Given the description of an element on the screen output the (x, y) to click on. 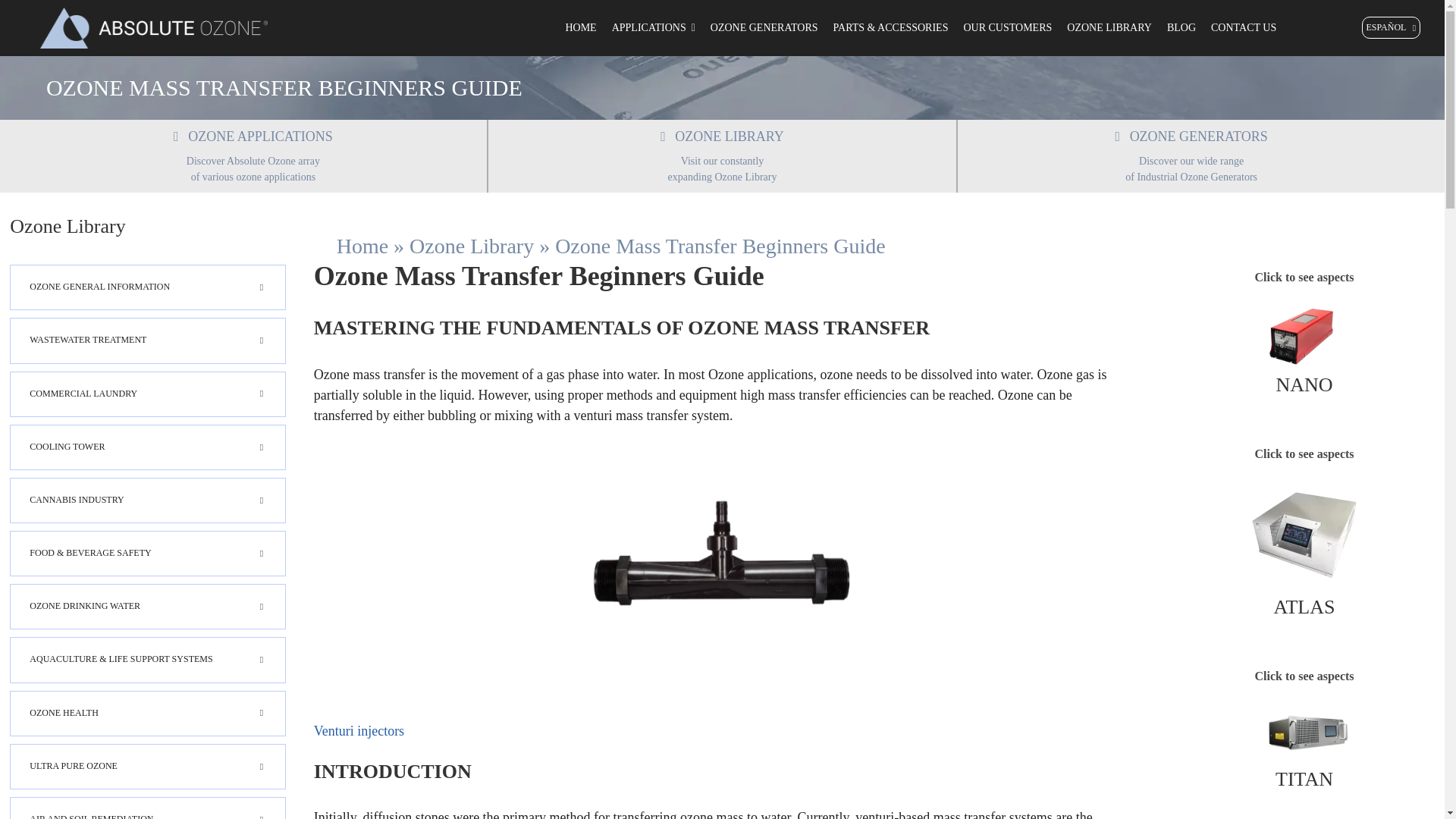
OZONE GENERATORS (1191, 136)
CONTACT US (1243, 27)
OZONE GENERATORS (764, 27)
OUR CUSTOMERS (1006, 27)
OZONE LIBRARY (721, 136)
OZONE GENERAL INFORMATION (147, 287)
OZONE LIBRARY (1109, 27)
APPLICATIONS (653, 27)
OZONE APPLICATIONS (252, 136)
